Given the description of an element on the screen output the (x, y) to click on. 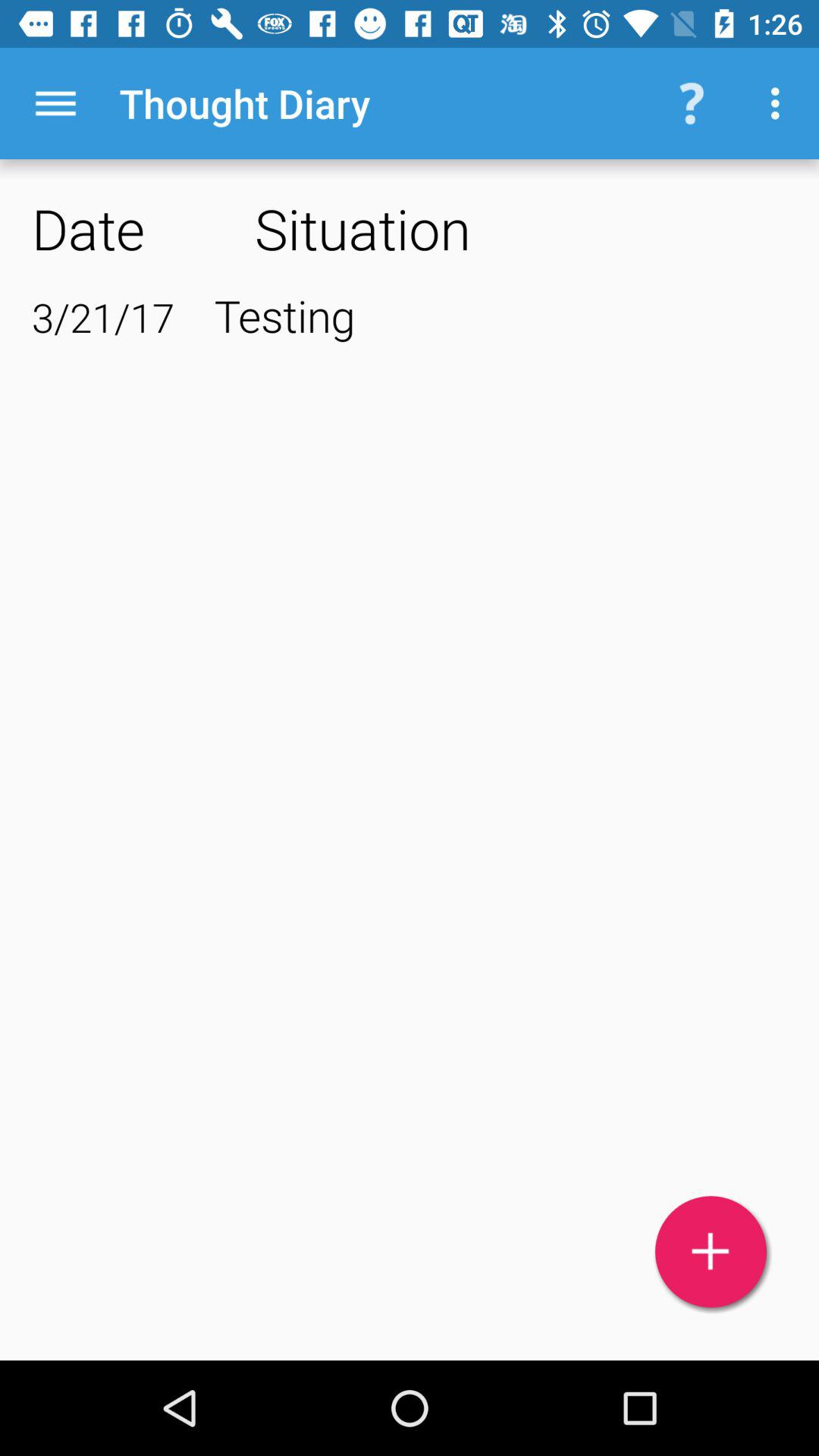
click the app below situation (500, 315)
